Given the description of an element on the screen output the (x, y) to click on. 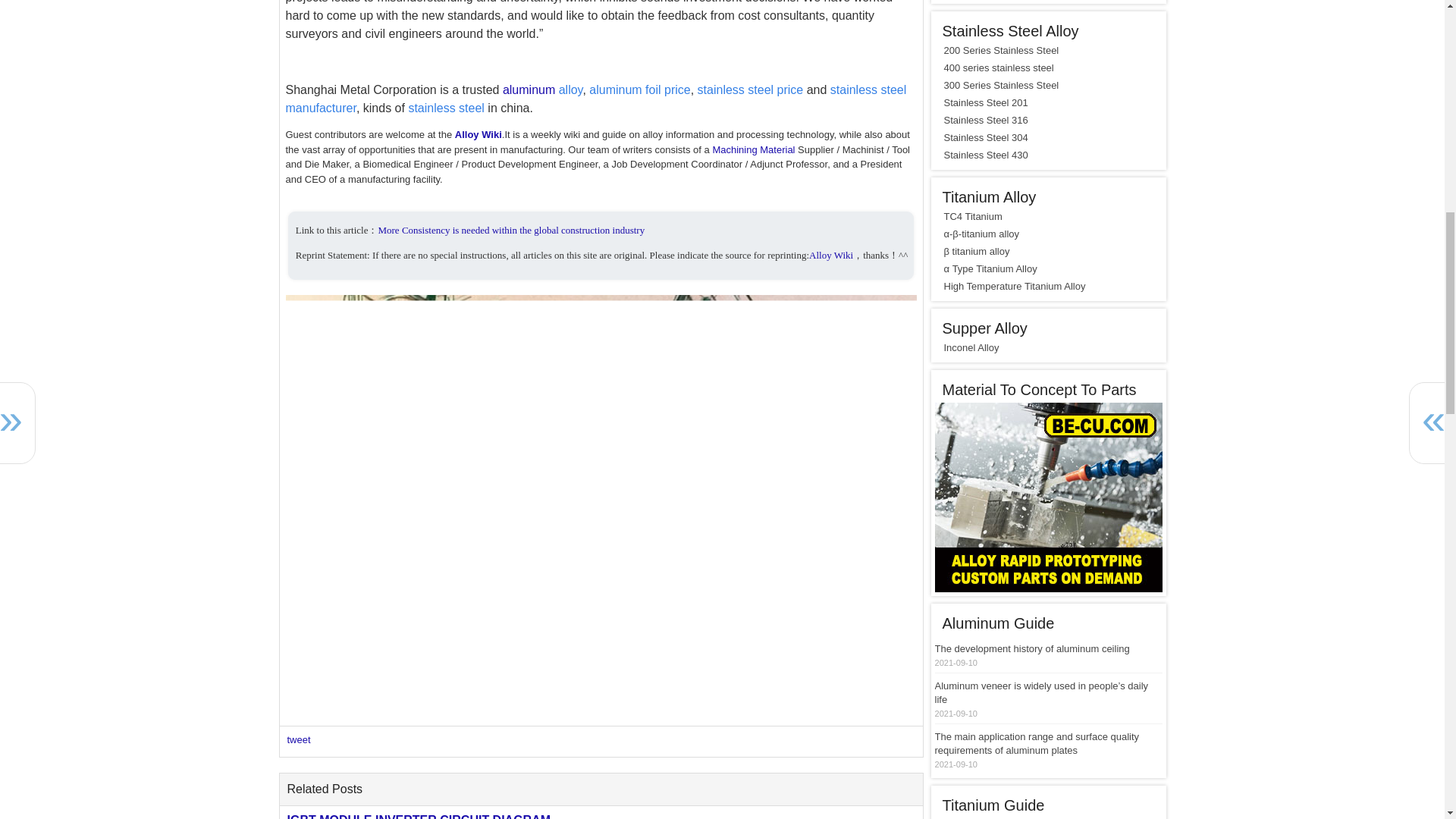
tweet (298, 739)
aluminum (528, 89)
aluminum (528, 89)
Alloy Wiki (478, 134)
Machining Material (752, 149)
Alloy Wiki (831, 254)
